Given the description of an element on the screen output the (x, y) to click on. 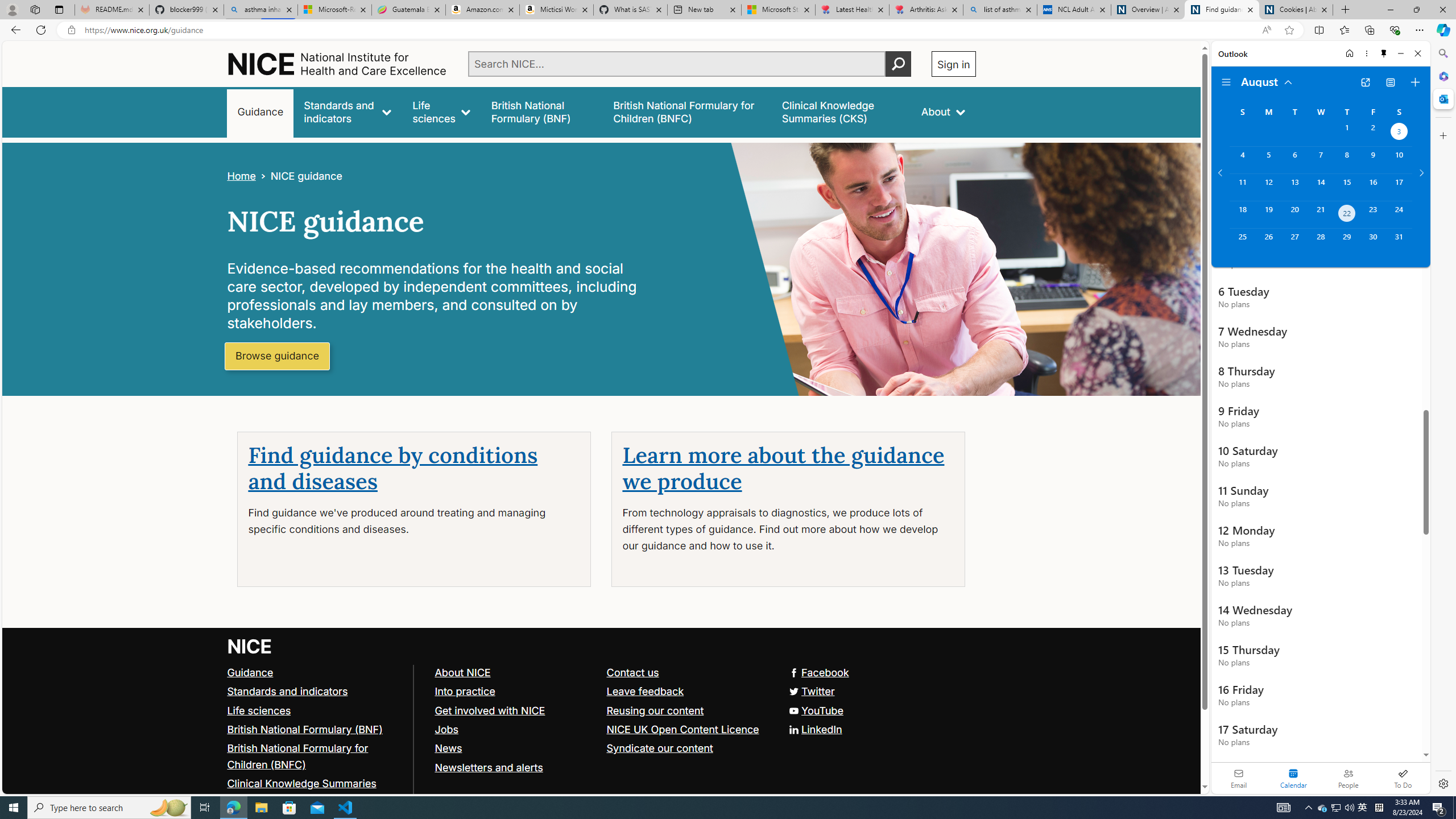
Life sciences (259, 710)
Reusing our content (654, 710)
Selected calendar module. Date today is 22 (1293, 777)
Leave feedback (644, 690)
Jobs (514, 729)
Tuesday, August 6, 2024.  (1294, 159)
